Given the description of an element on the screen output the (x, y) to click on. 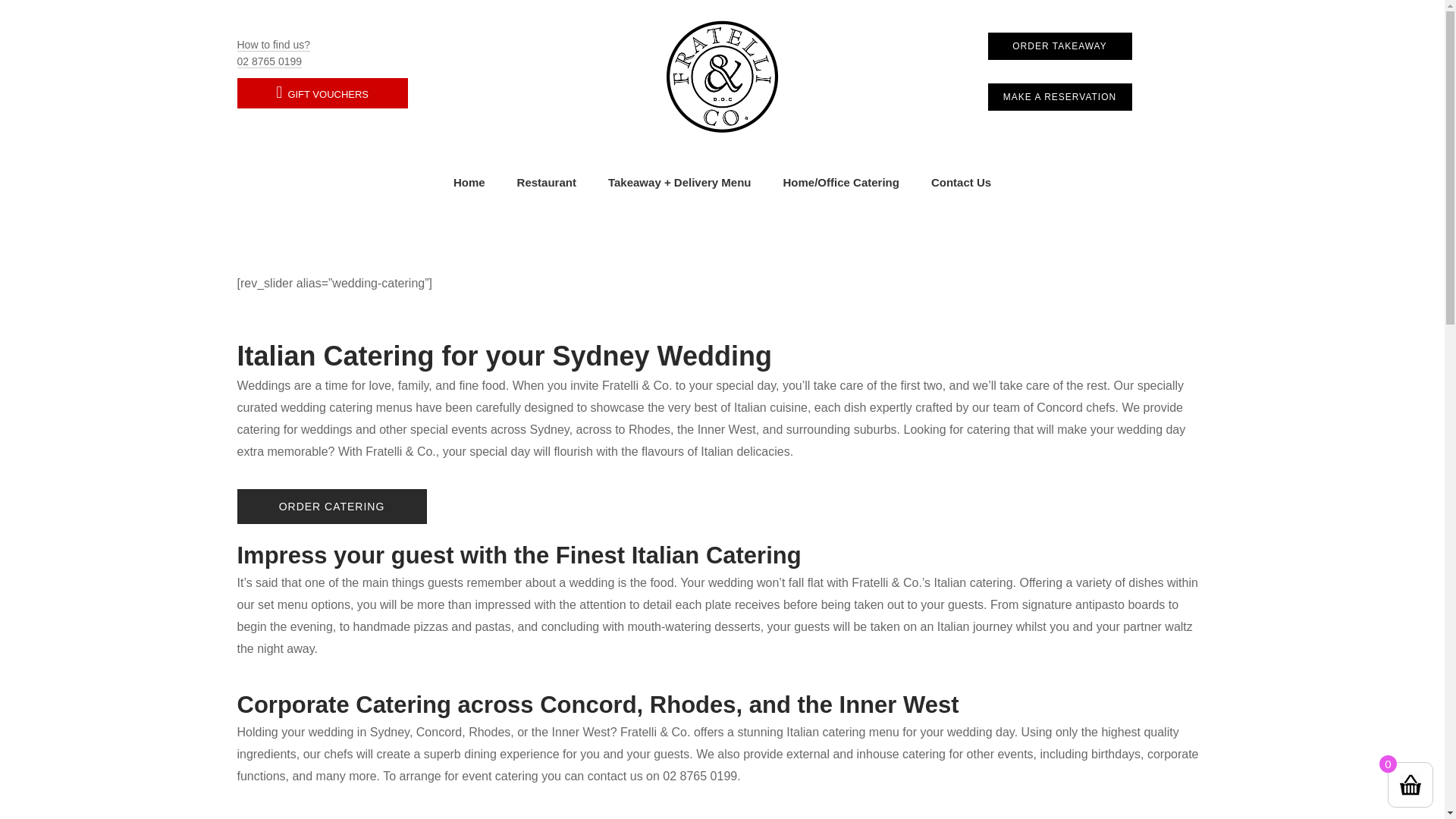
Home (469, 181)
ORDER CATERING (330, 506)
including birthdays (1091, 753)
Catering Cart (330, 506)
MAKE A RESERVATION (1059, 96)
contact us (615, 775)
Contact Us (961, 181)
How to find us? (272, 44)
ORDER TAKEAWAY (1059, 45)
catering for other events (967, 753)
GIFT VOUCHERS (321, 92)
Restaurant (546, 181)
02 8765 0199 (268, 61)
corporate functions (716, 764)
